Given the description of an element on the screen output the (x, y) to click on. 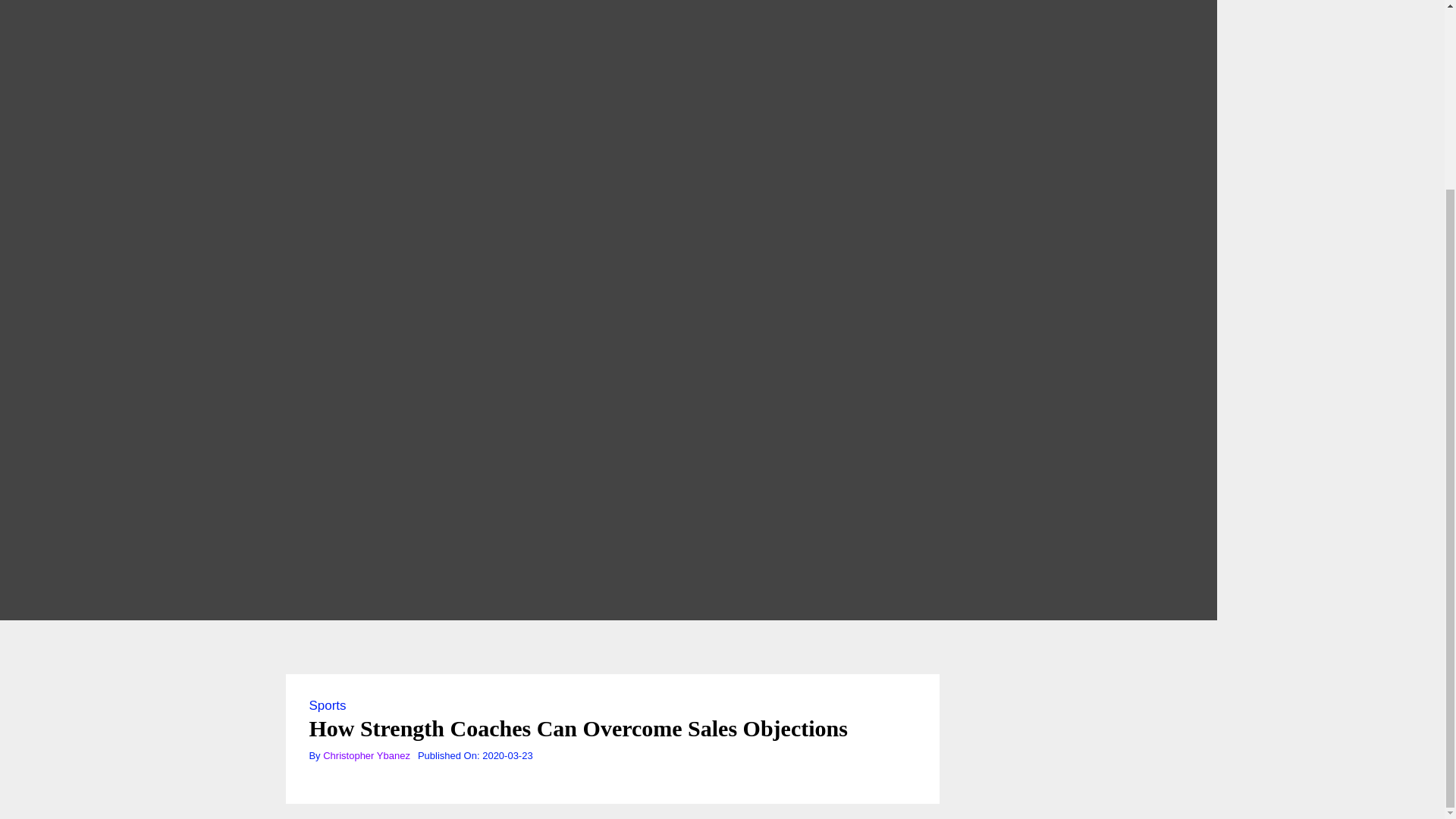
Sports (327, 705)
Posts by Christopher Ybanez (366, 755)
Christopher Ybanez (366, 755)
Sports (327, 705)
